Given the description of an element on the screen output the (x, y) to click on. 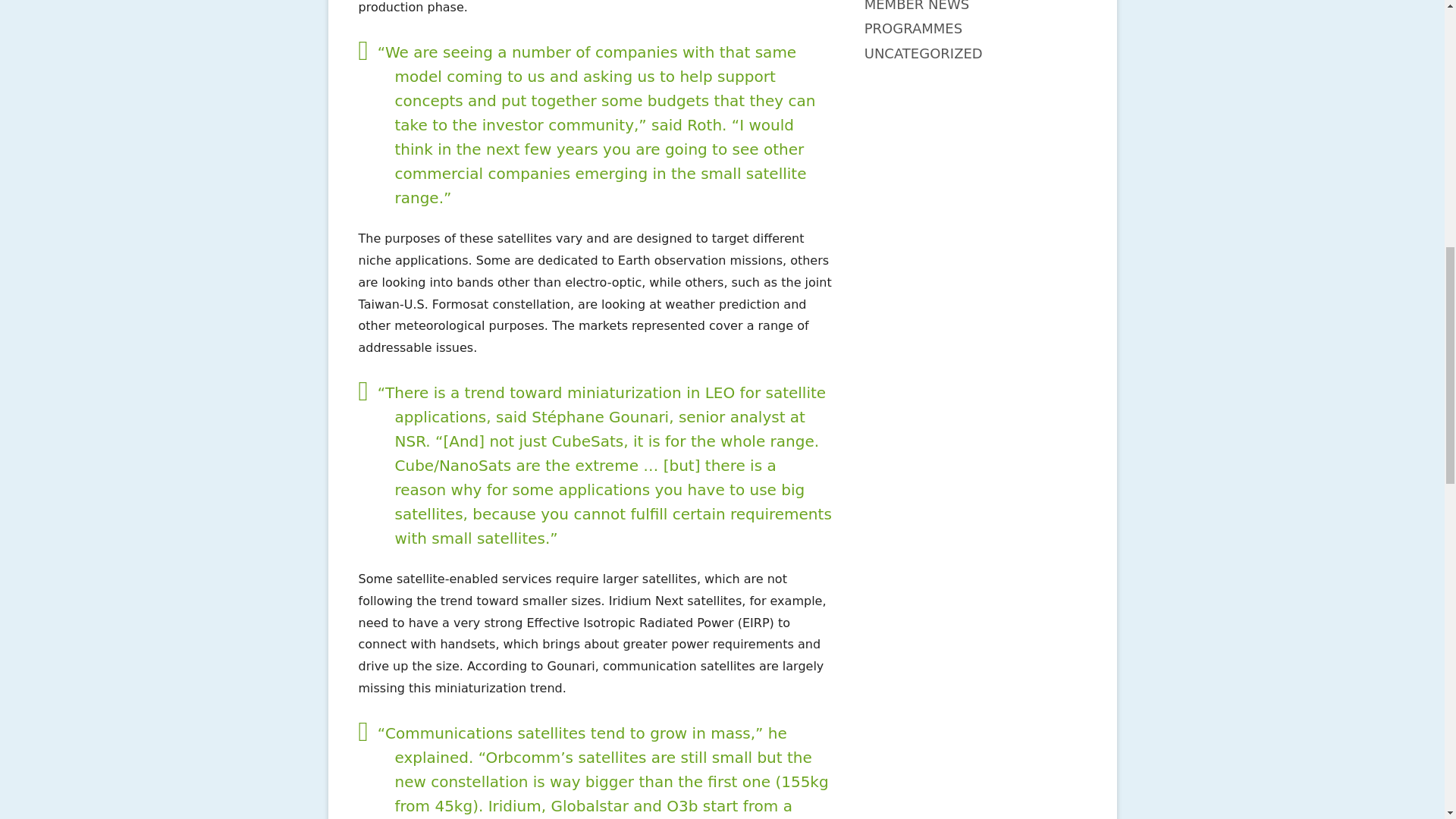
MEMBER NEWS (916, 6)
PROGRAMMES (913, 28)
UNCATEGORIZED (923, 53)
